Given the description of an element on the screen output the (x, y) to click on. 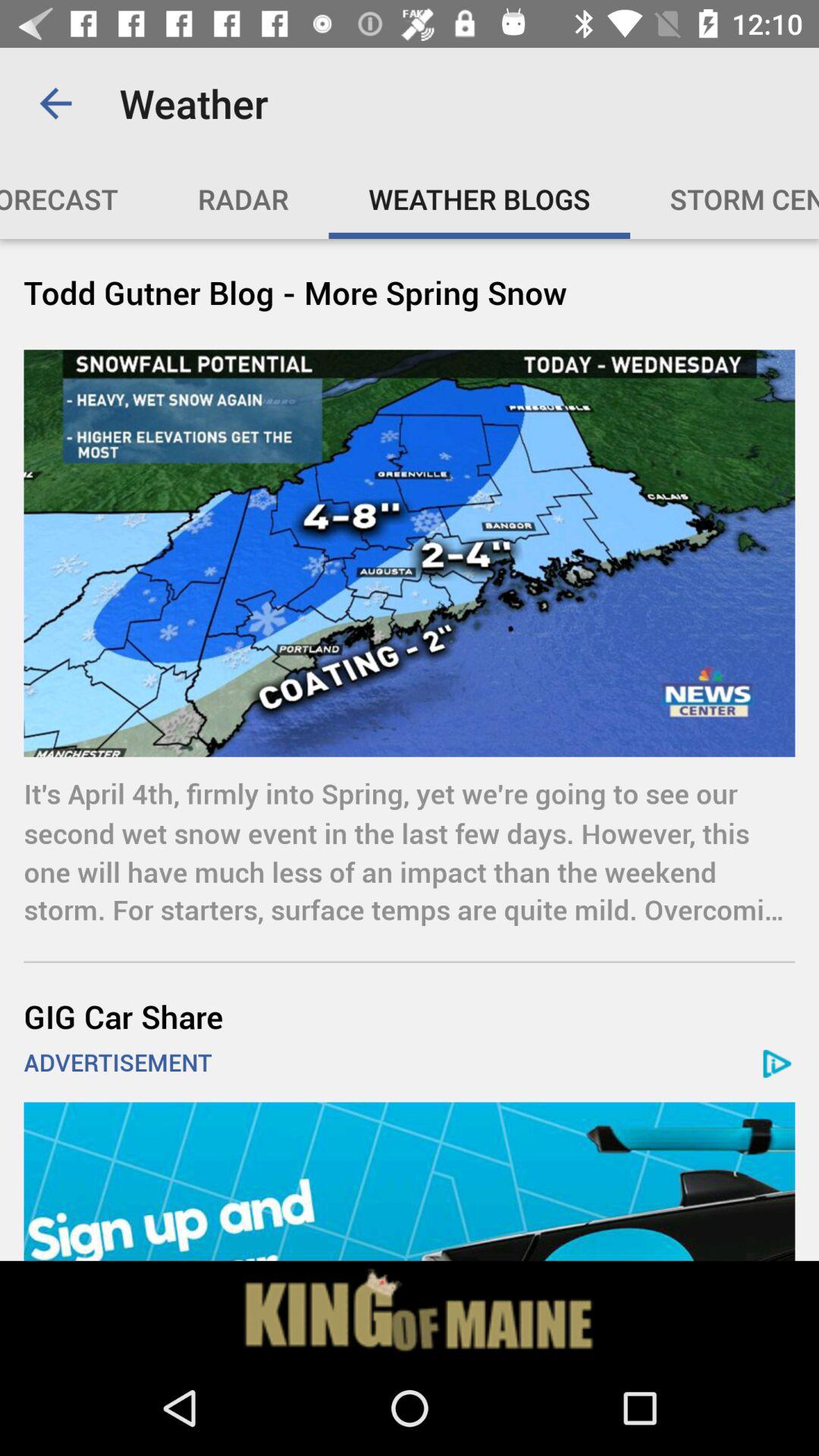
kingofmaine (409, 1310)
